Given the description of an element on the screen output the (x, y) to click on. 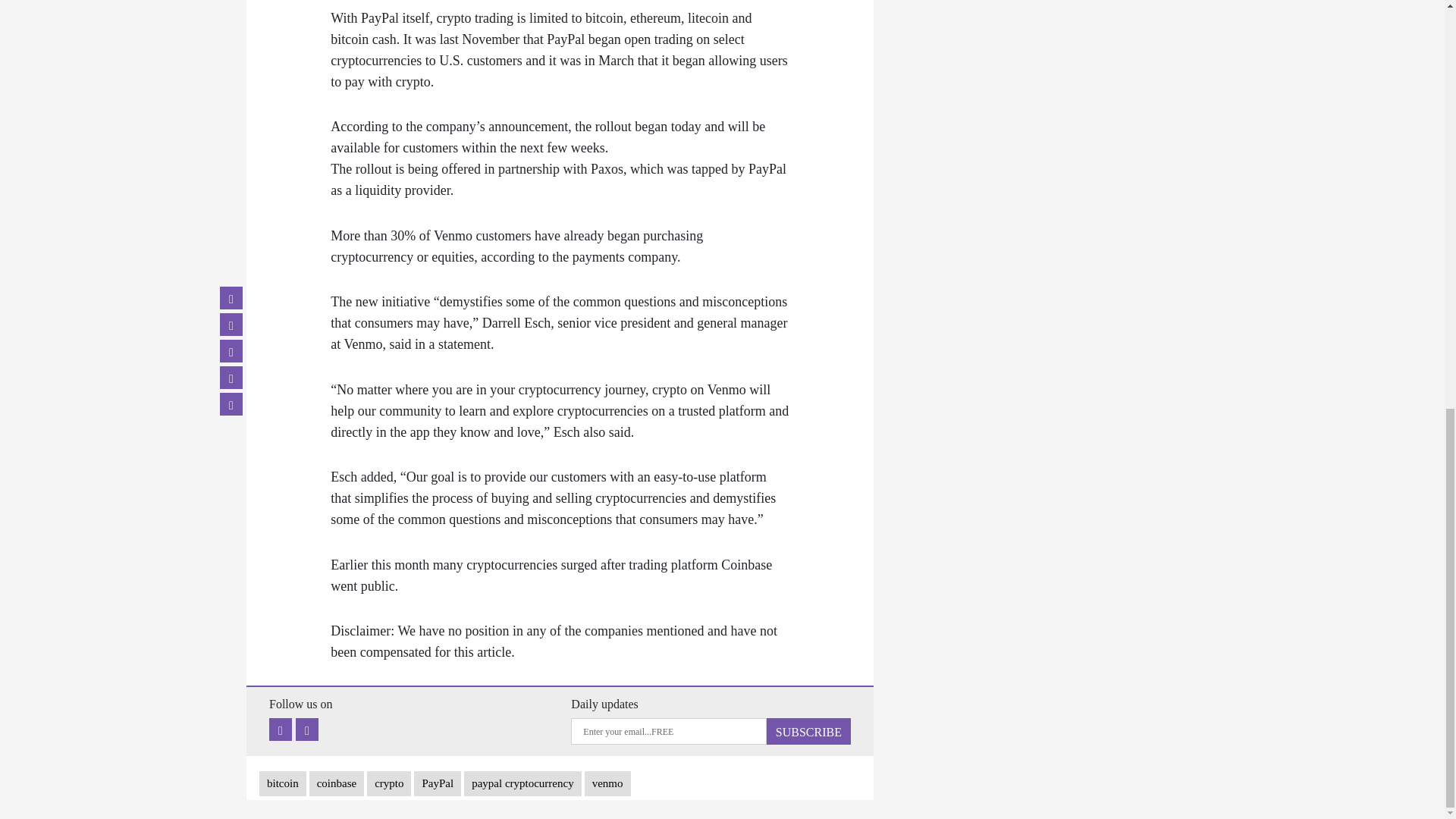
paypal cryptocurrency (522, 783)
bitcoin (282, 783)
venmo (607, 783)
PayPal (437, 783)
Subscribe (808, 731)
Subscribe (808, 731)
coinbase (336, 783)
crypto (388, 783)
